Given the description of an element on the screen output the (x, y) to click on. 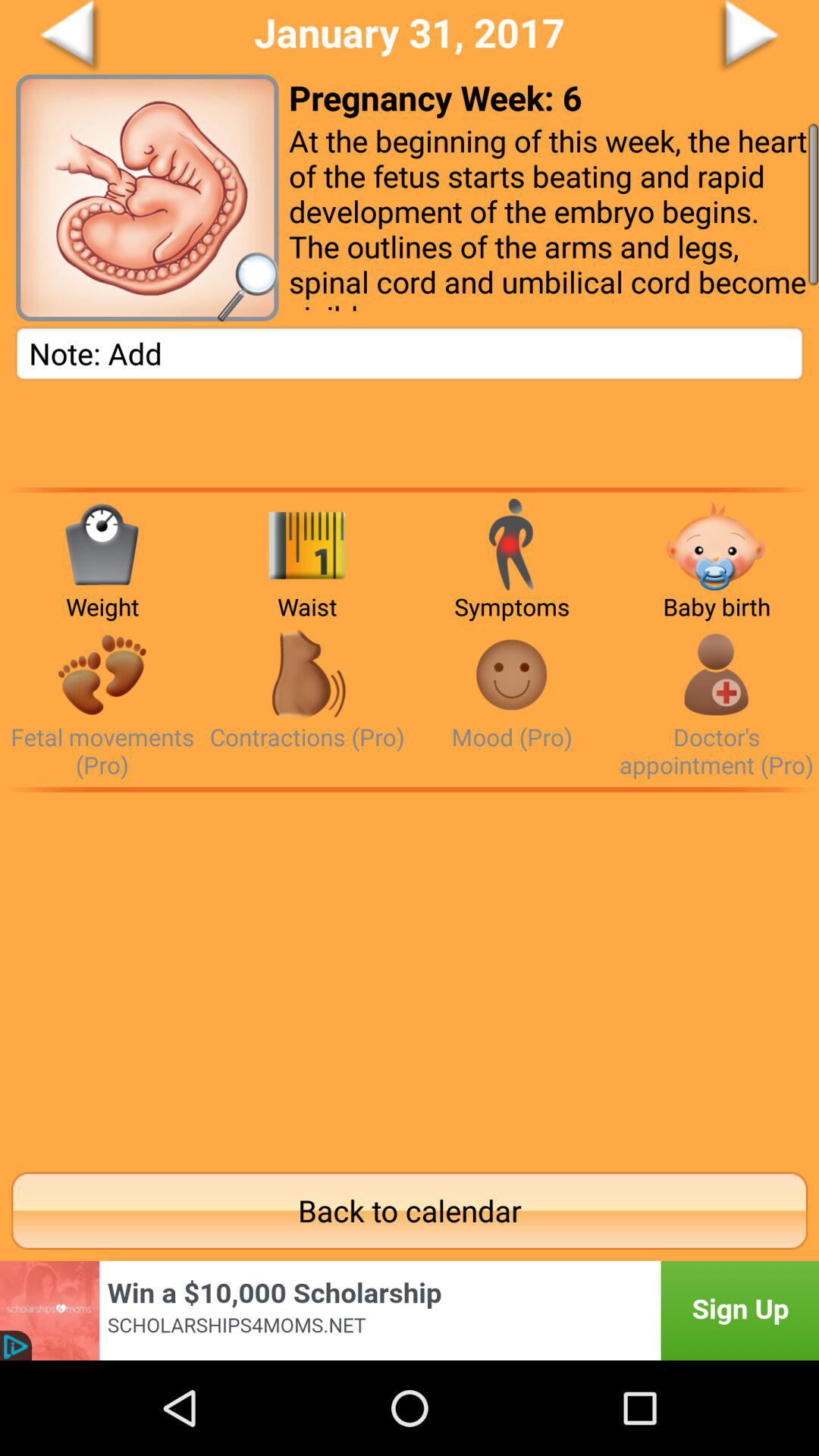
go back (127, 37)
